Given the description of an element on the screen output the (x, y) to click on. 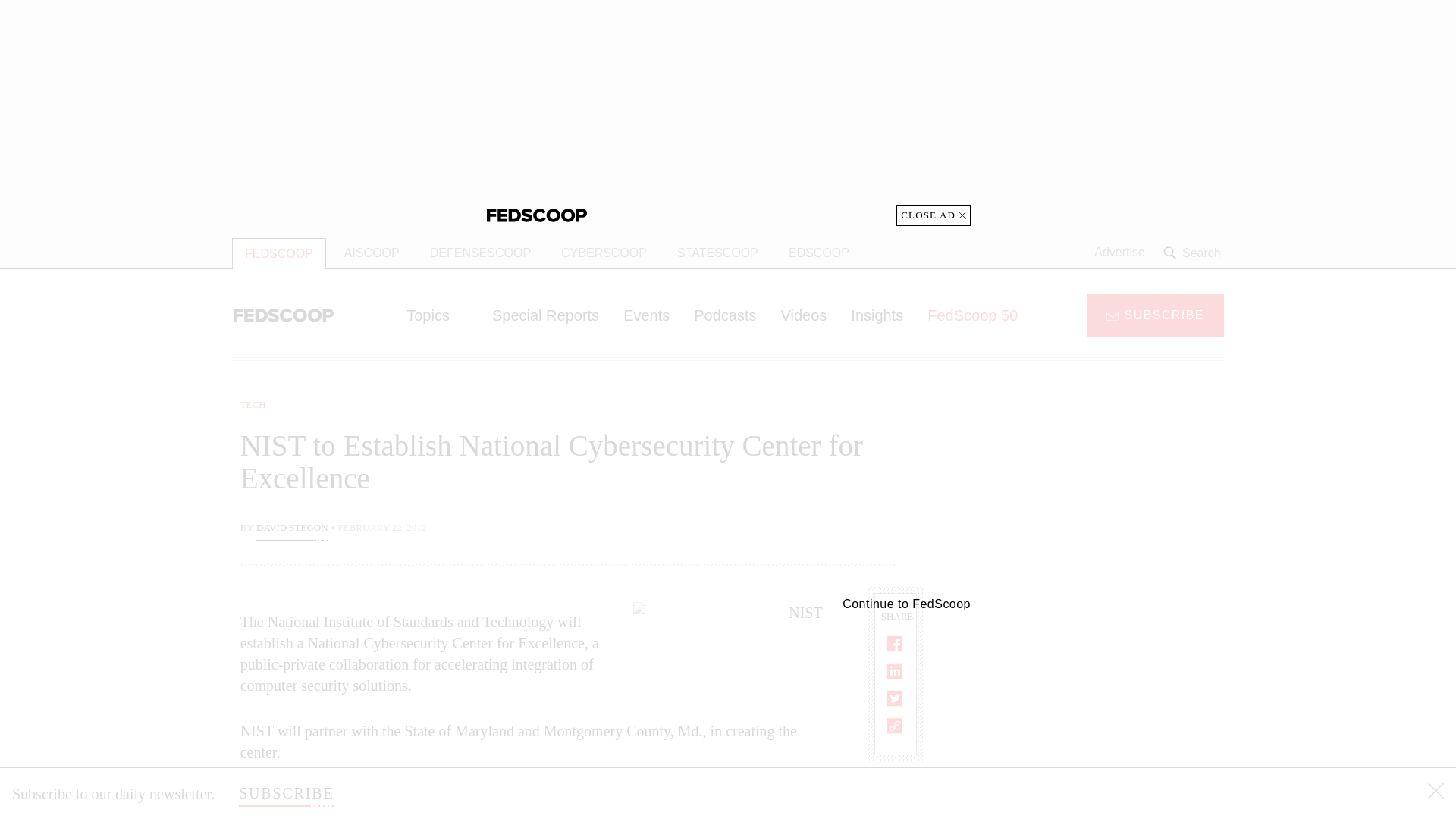
Videos (804, 315)
AISCOOP (371, 253)
SUBSCRIBE (1155, 314)
Special Reports (545, 315)
Events (646, 315)
CYBERSCOOP (603, 253)
DAVID STEGON (292, 528)
Podcasts (724, 315)
FedScoop 50 (972, 315)
